Given the description of an element on the screen output the (x, y) to click on. 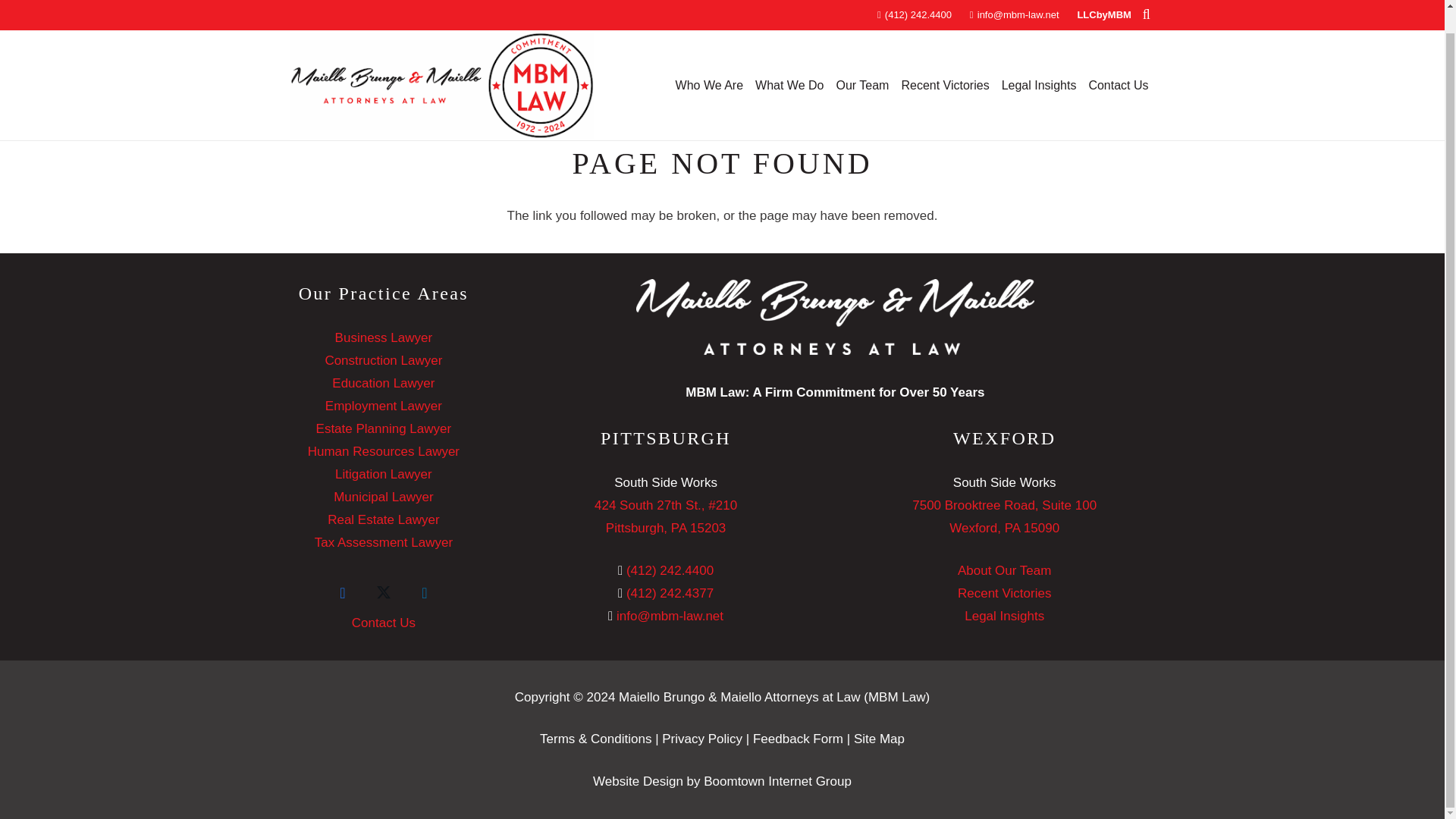
Recent Victories (944, 61)
Construction Lawyer (383, 359)
Facebook (342, 592)
LinkedIn (425, 592)
Business Lawyer (383, 337)
Twitter (384, 592)
